Given the description of an element on the screen output the (x, y) to click on. 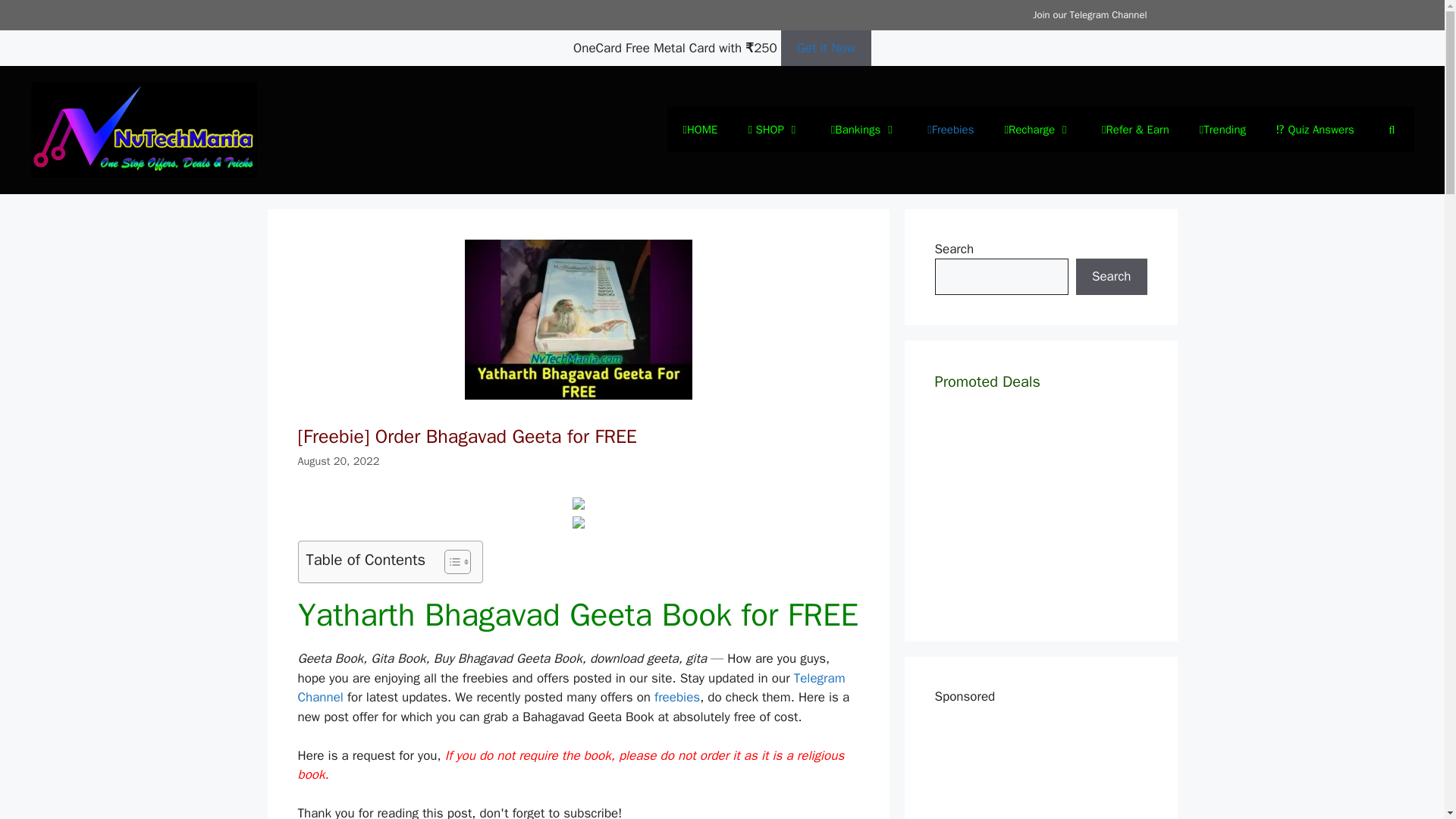
Get it Now (825, 48)
Join our Telegram Channel (1089, 14)
Get it Now (826, 47)
